Given the description of an element on the screen output the (x, y) to click on. 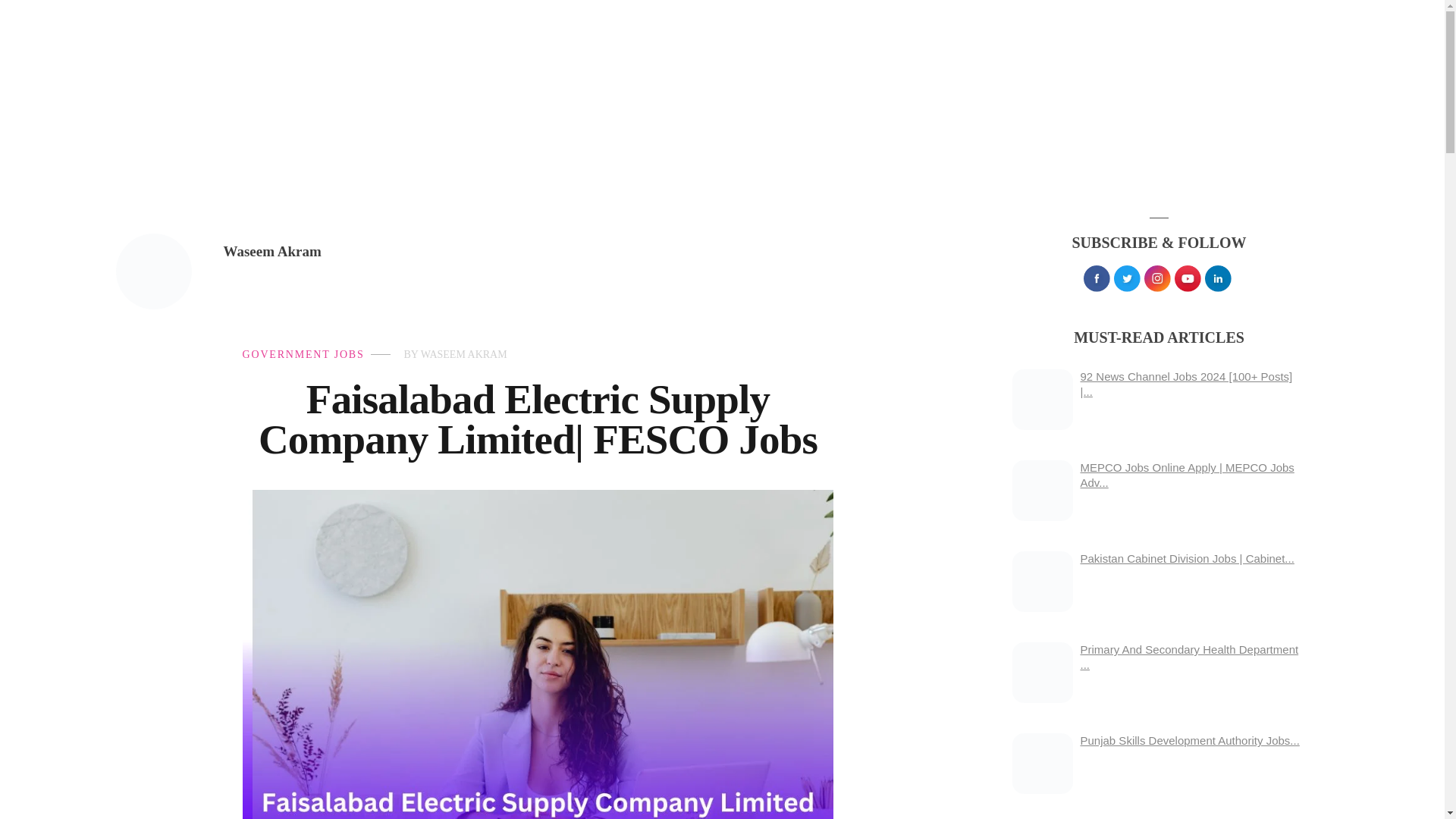
Punjab Skills Development Authority Jobs... (1189, 739)
View all posts in Government Jobs (304, 354)
Primary And Secondary Health Department ... (1189, 656)
View all posts by Waseem Akram (271, 251)
View all posts by Waseem Akram (463, 354)
Waseem Akram (271, 251)
GOVERNMENT JOBS (304, 354)
WASEEM AKRAM (463, 354)
